Given the description of an element on the screen output the (x, y) to click on. 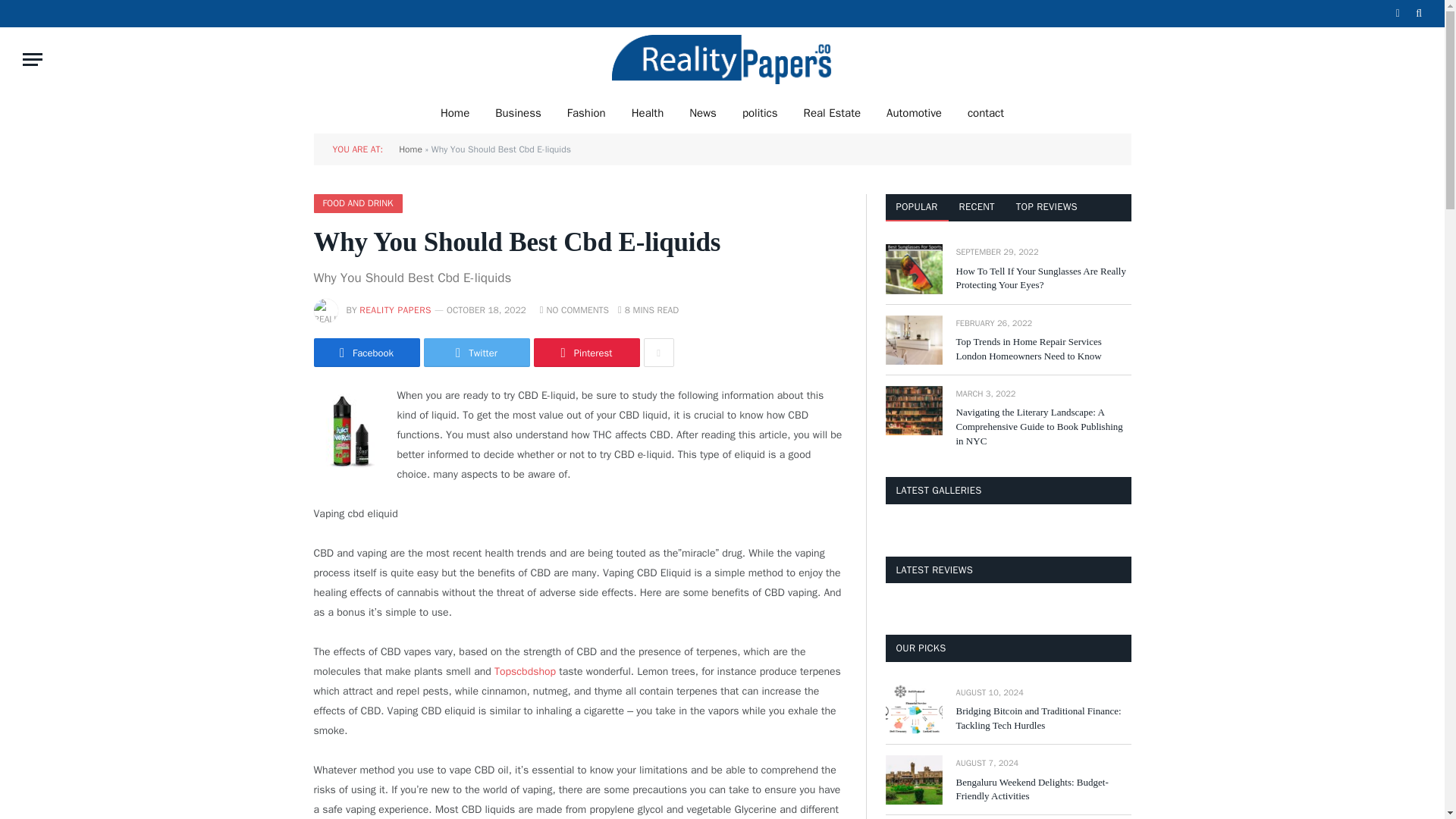
contact (985, 112)
Home (454, 112)
Share on Facebook (367, 352)
News (703, 112)
Posts by Reality Papers (394, 309)
Twitter (476, 352)
Fashion (586, 112)
Automotive (914, 112)
Pinterest (587, 352)
politics (759, 112)
